Given the description of an element on the screen output the (x, y) to click on. 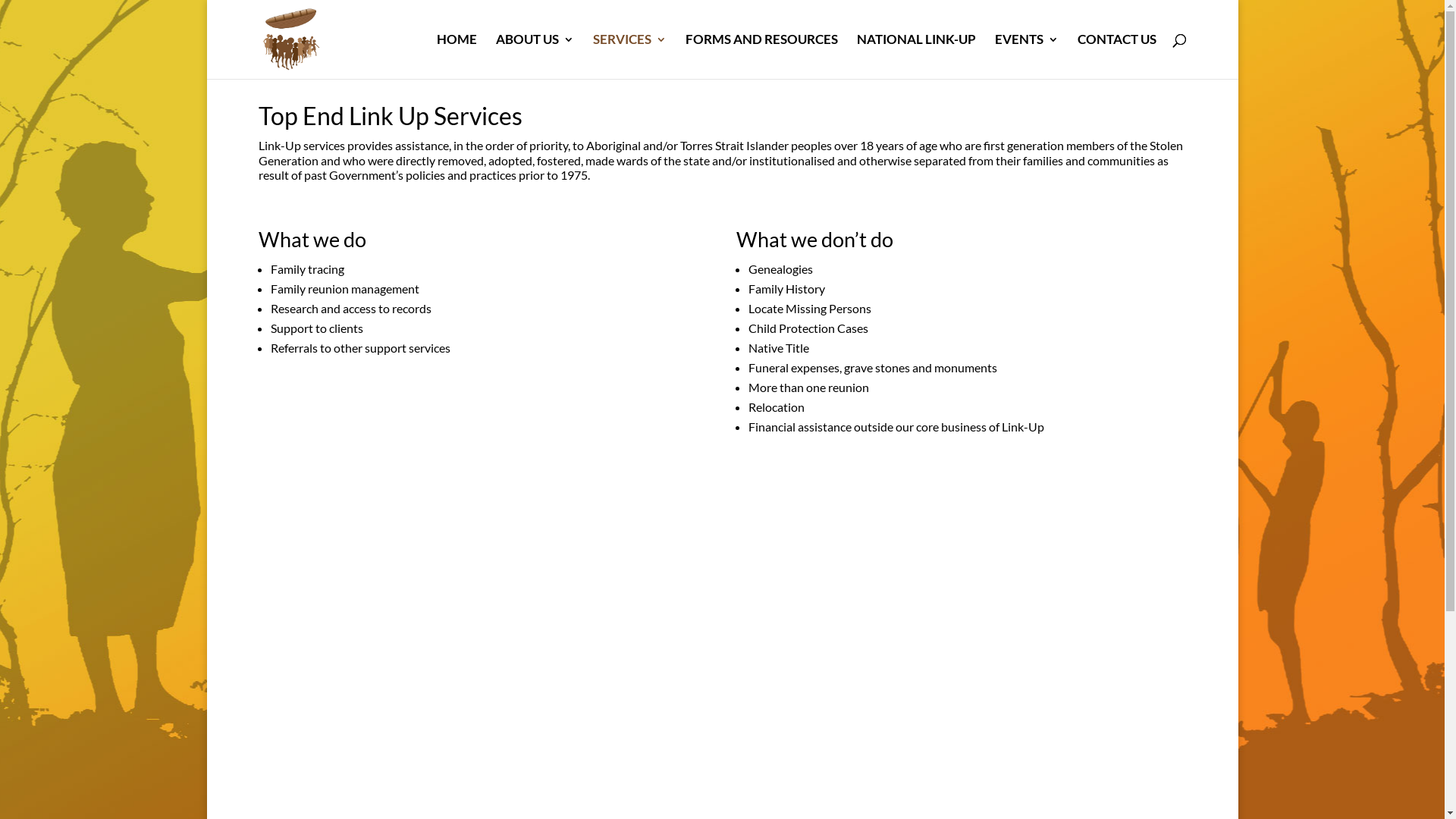
NATIONAL LINK-UP Element type: text (915, 56)
ABOUT US Element type: text (534, 56)
HOME Element type: text (456, 56)
EVENTS Element type: text (1026, 56)
FORMS AND RESOURCES Element type: text (761, 56)
CONTACT US Element type: text (1115, 56)
SERVICES Element type: text (629, 56)
